Given the description of an element on the screen output the (x, y) to click on. 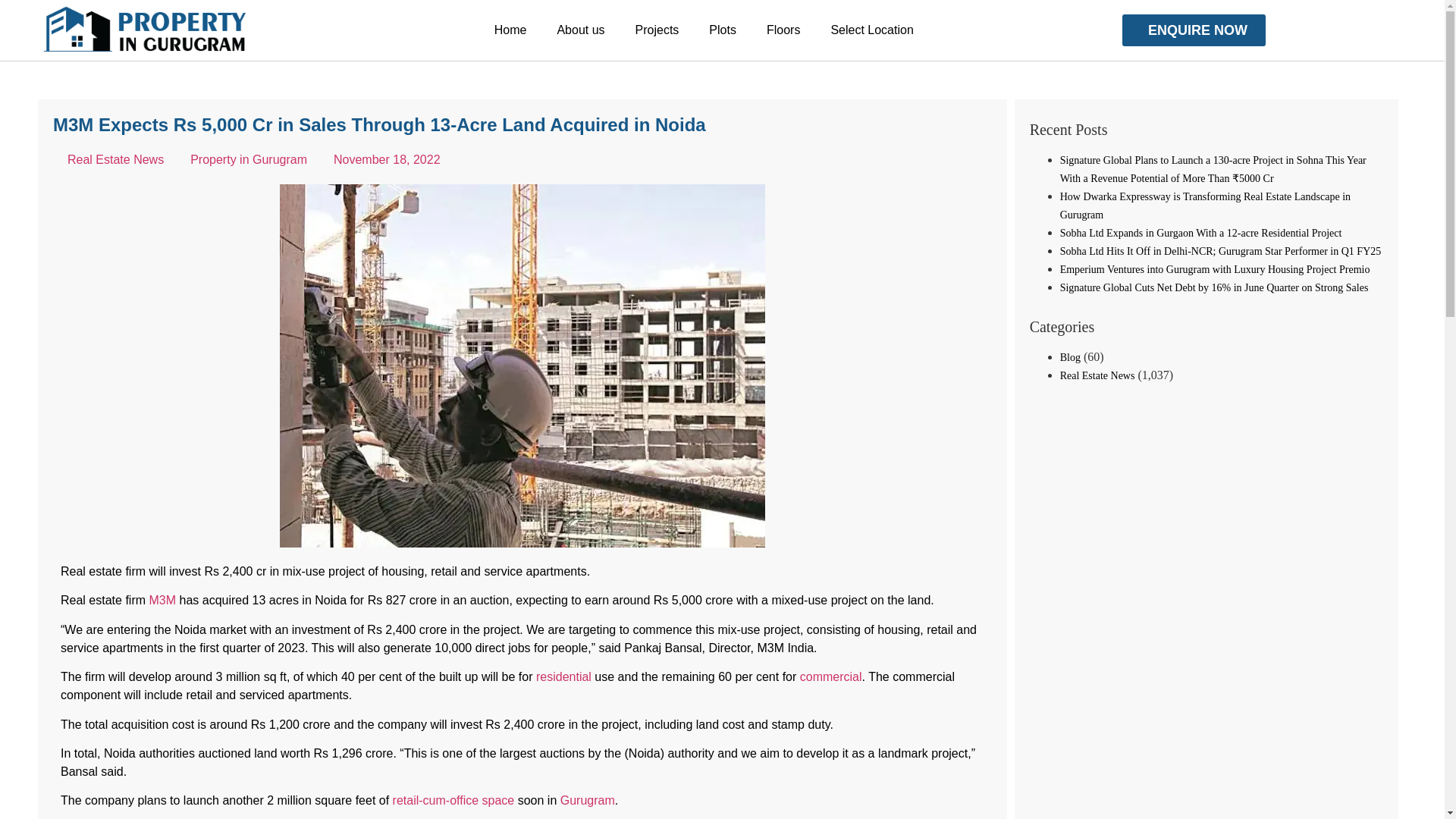
Home (510, 30)
commercial (830, 676)
retail-cum-office space (454, 799)
Gurugram (587, 799)
Select Location (871, 30)
Plots (722, 30)
M3M (162, 599)
Floors (783, 30)
residential (563, 676)
About us (580, 30)
